Given the description of an element on the screen output the (x, y) to click on. 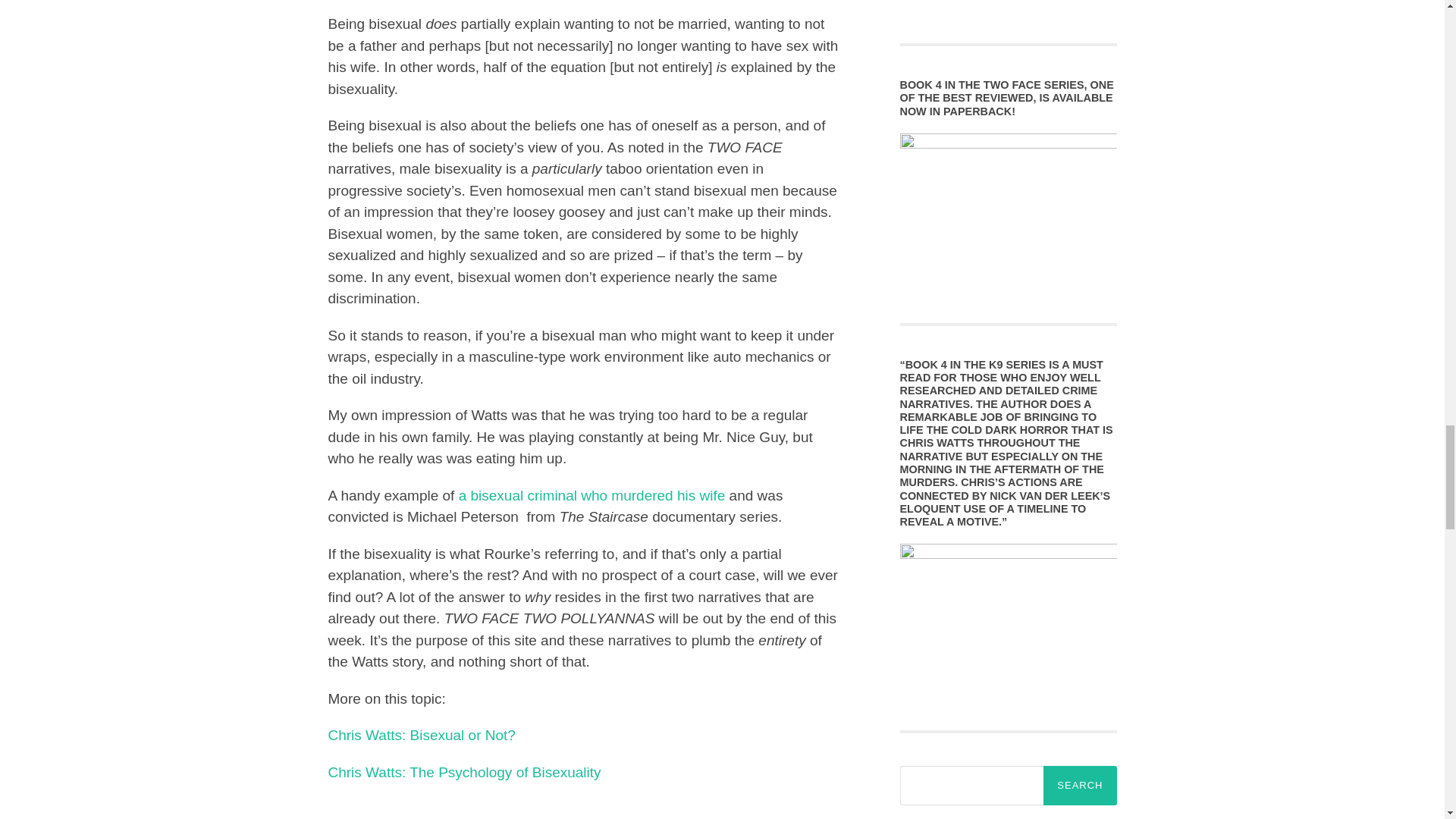
Search (1079, 785)
